Given the description of an element on the screen output the (x, y) to click on. 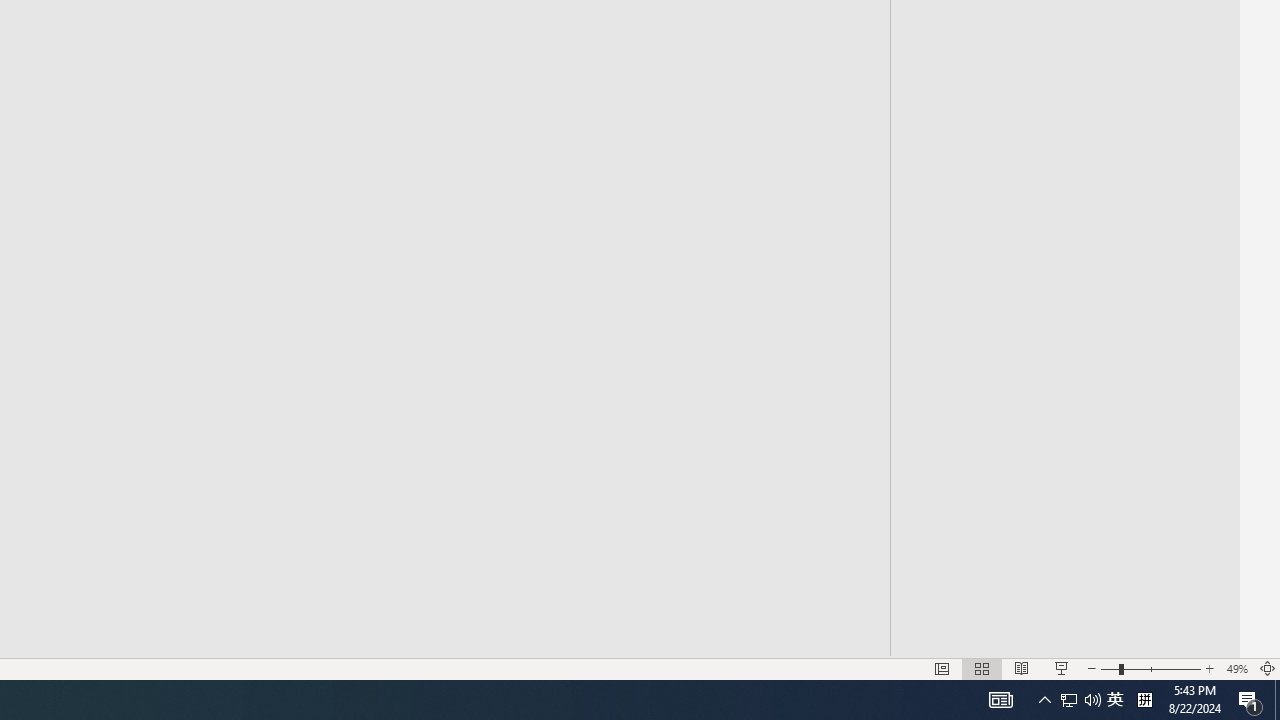
Zoom 49% (1236, 668)
